Given the description of an element on the screen output the (x, y) to click on. 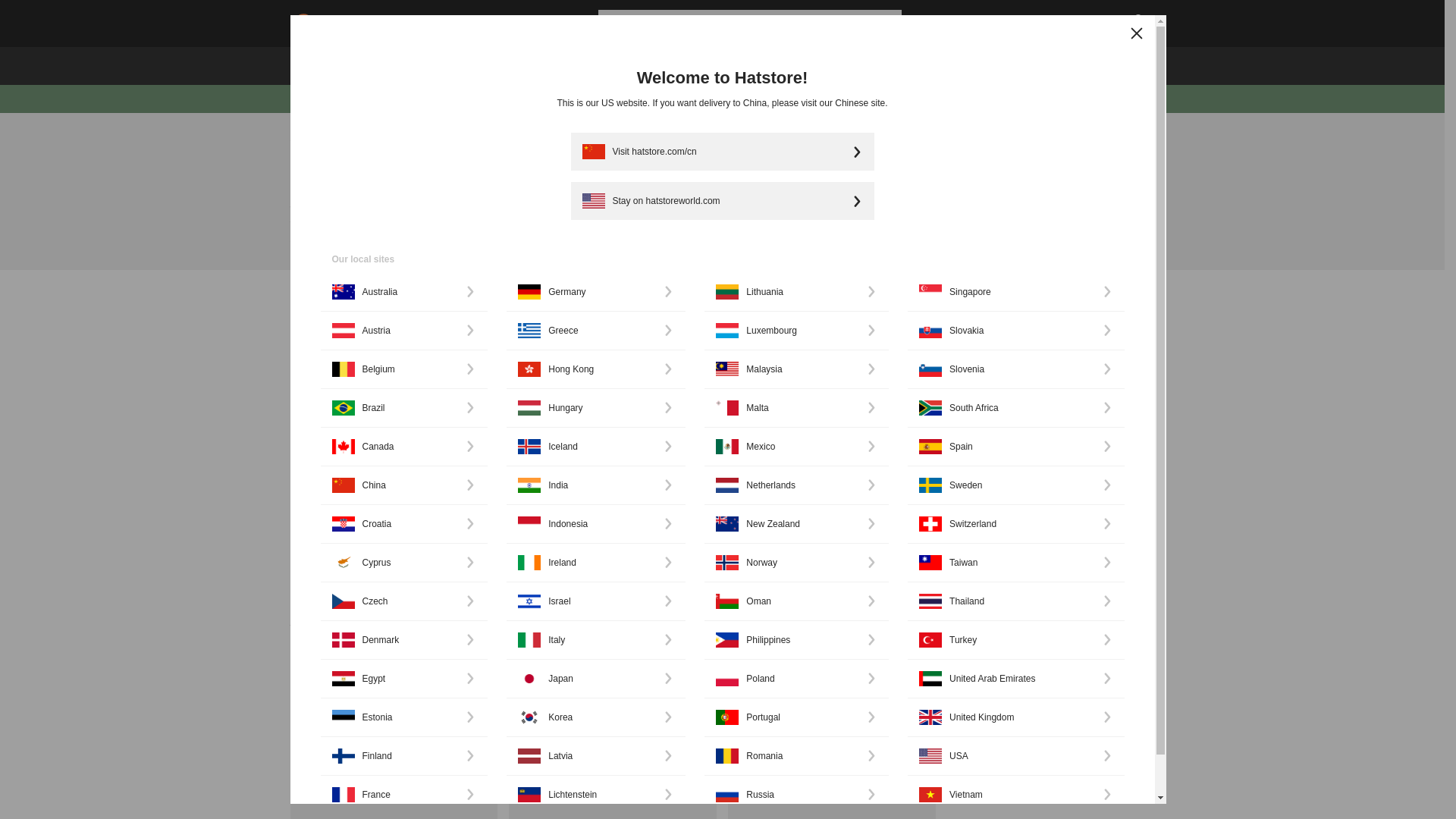
Sale (725, 65)
Shop Instagram (796, 65)
Teams (540, 65)
NHL (324, 139)
Hats (487, 65)
Department (431, 316)
Size (625, 316)
Read more (664, 220)
Start (297, 139)
Backside (909, 316)
New in (318, 65)
Color (535, 316)
Shape (808, 316)
Type (327, 316)
Caps (372, 65)
